Given the description of an element on the screen output the (x, y) to click on. 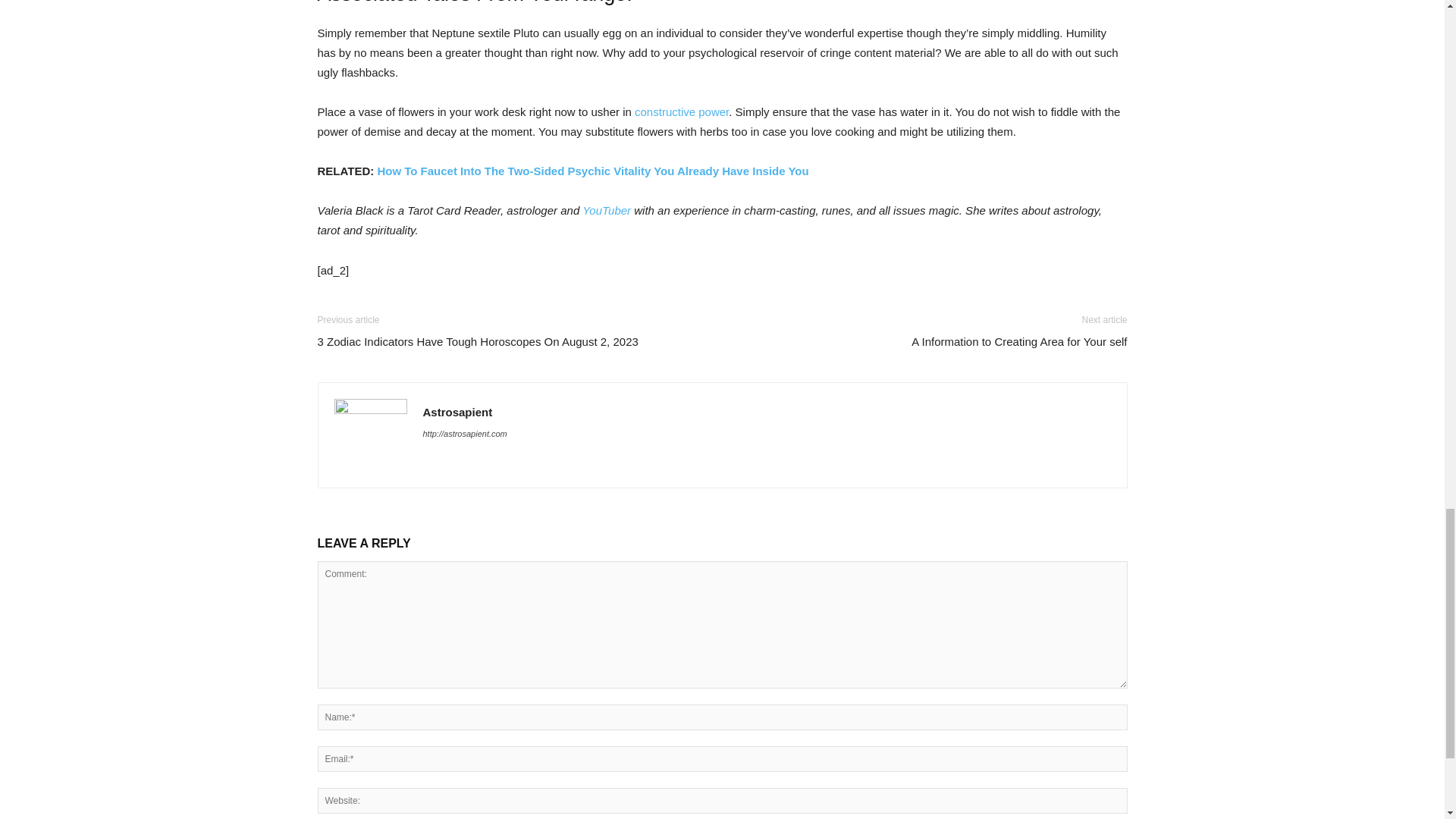
constructive power (681, 111)
A Information to Creating Area for Your self (1018, 341)
3 Zodiac Indicators Have Tough Horoscopes On August 2, 2023 (477, 341)
Astrosapient (458, 411)
YouTuber (606, 210)
